Given the description of an element on the screen output the (x, y) to click on. 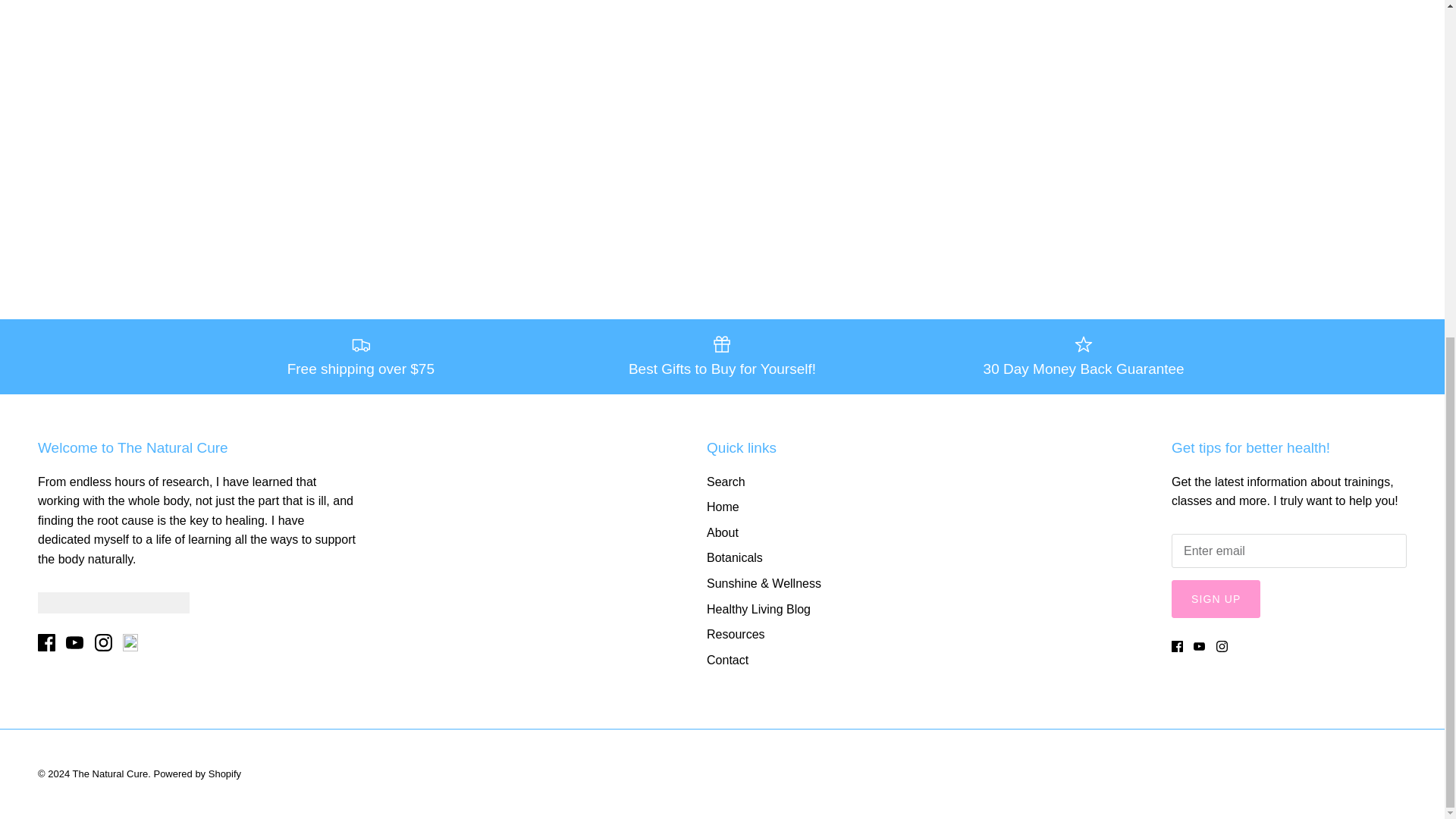
Instagram (1221, 645)
Facebook (46, 642)
Youtube (73, 642)
Instagram (103, 642)
Youtube (1199, 645)
Facebook (1177, 645)
